Given the description of an element on the screen output the (x, y) to click on. 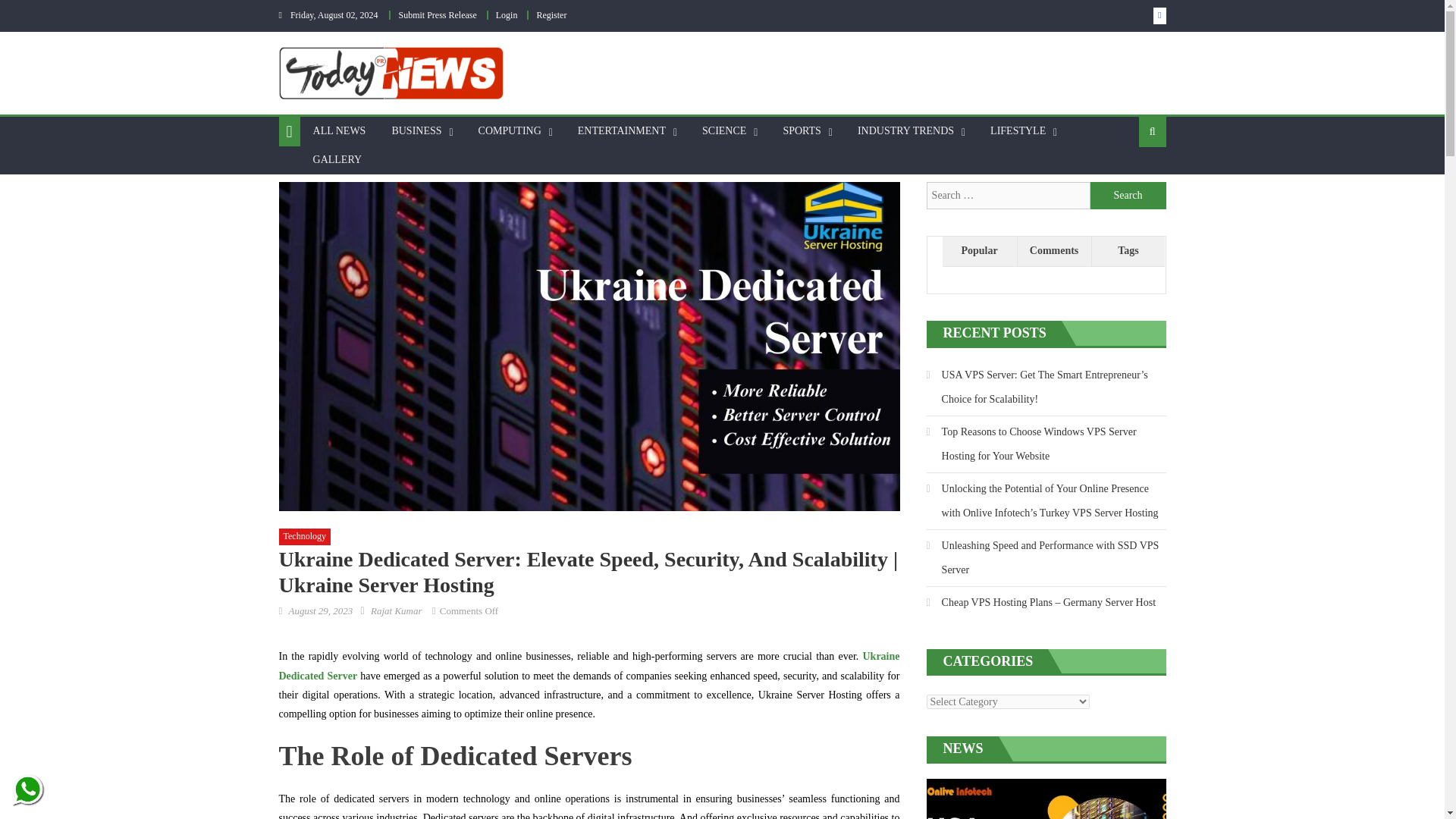
INDUSTRY TRENDS (905, 131)
Register (550, 14)
Login (507, 14)
Submit Press Release (436, 14)
ALL NEWS (339, 131)
Search (1128, 195)
COMPUTING (510, 131)
SCIENCE (723, 131)
Search (1128, 195)
ENTERTAINMENT (621, 131)
BUSINESS (416, 131)
SPORTS (801, 131)
